Given the description of an element on the screen output the (x, y) to click on. 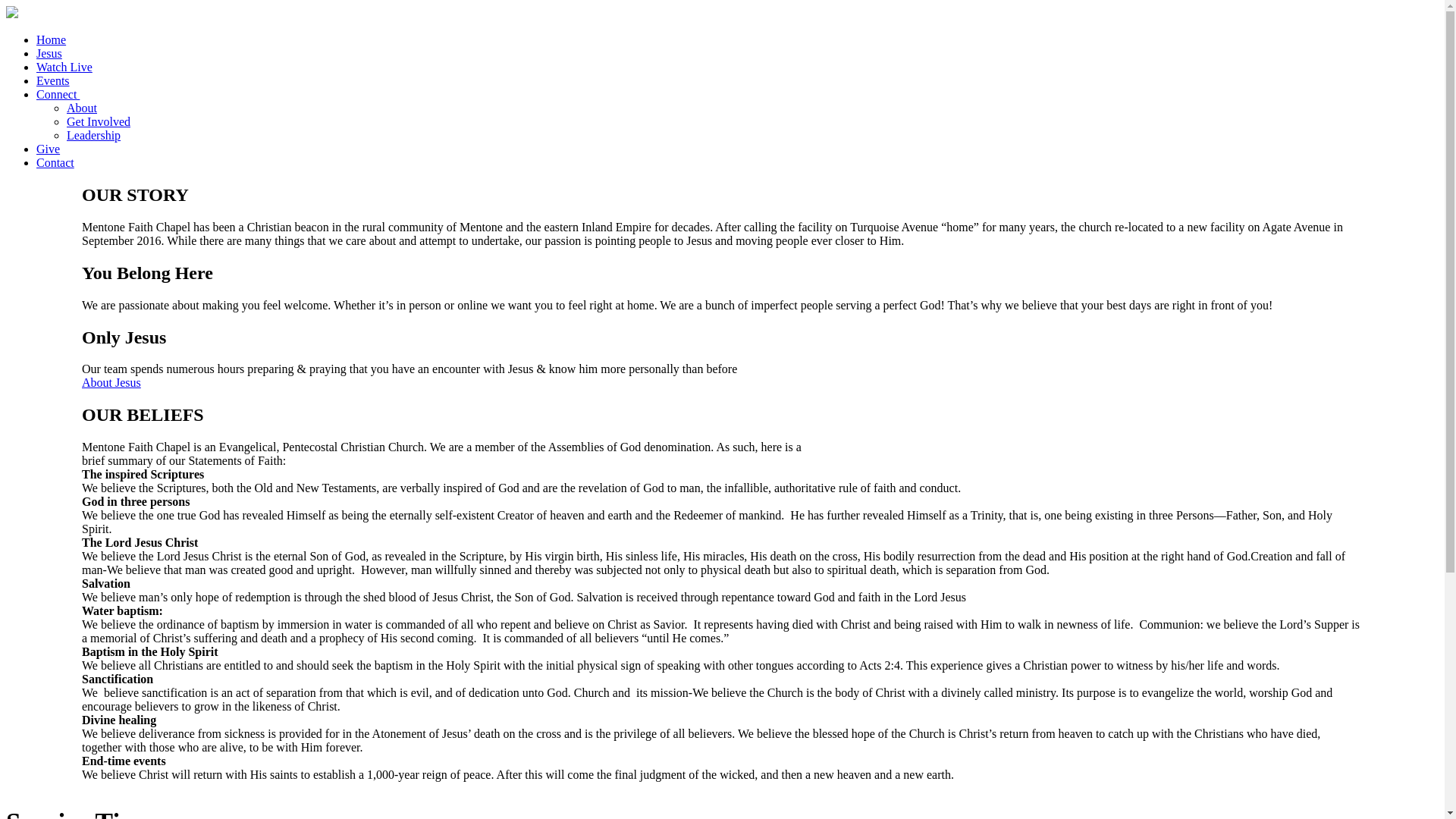
Get Involved (98, 121)
About (81, 107)
About Jesus (111, 382)
Jesus (49, 52)
Watch Live (64, 66)
Leadership (93, 134)
Connect  (58, 93)
Contact (55, 162)
Give (47, 148)
Events (52, 80)
Home (50, 39)
